Given the description of an element on the screen output the (x, y) to click on. 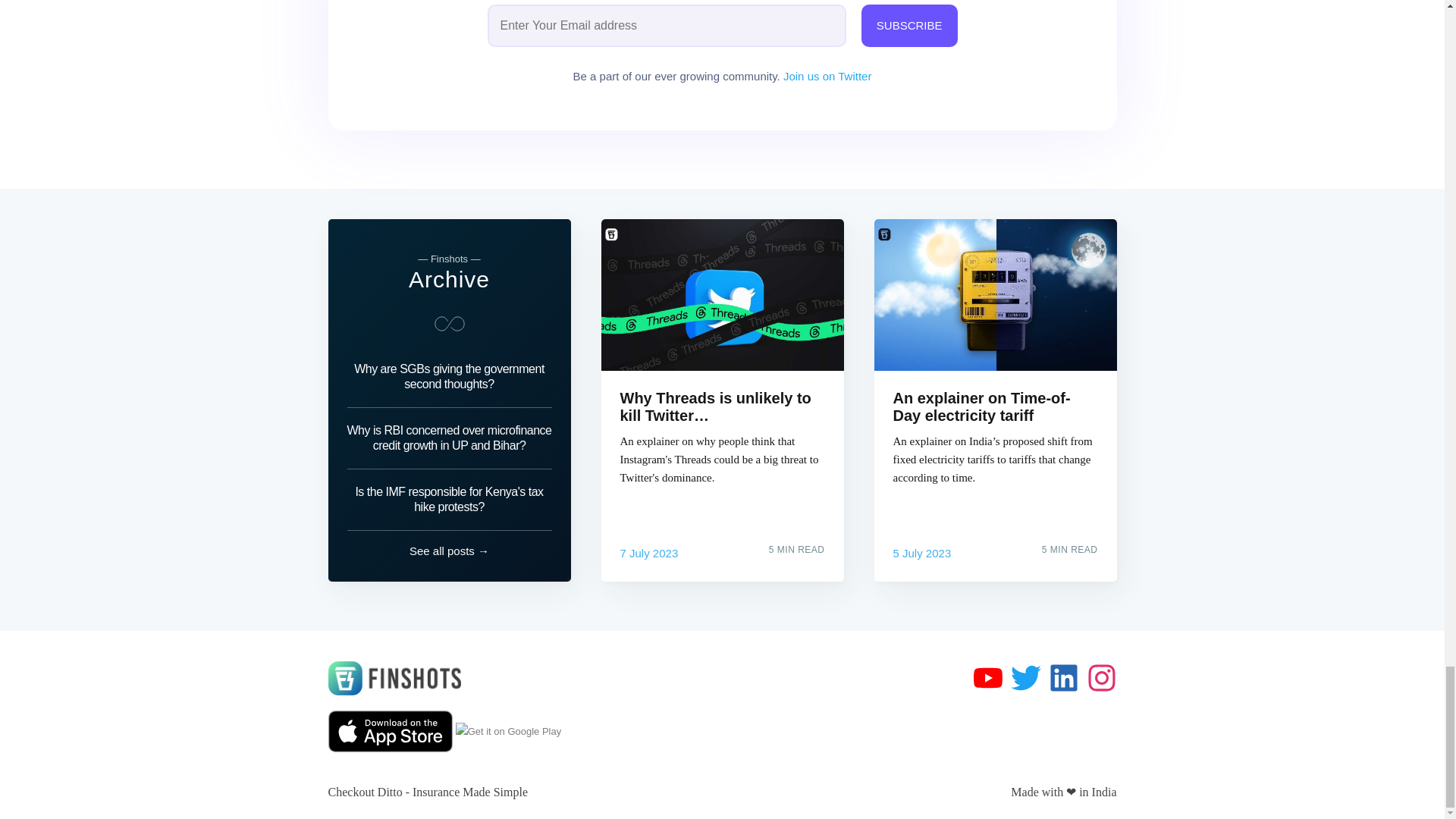
SUBSCRIBE (909, 25)
Why are SGBs giving the government second thoughts? (449, 380)
Is the IMF responsible for Kenya's tax hike protests? (449, 499)
Archive (449, 278)
Join us on Twitter (826, 75)
